Given the description of an element on the screen output the (x, y) to click on. 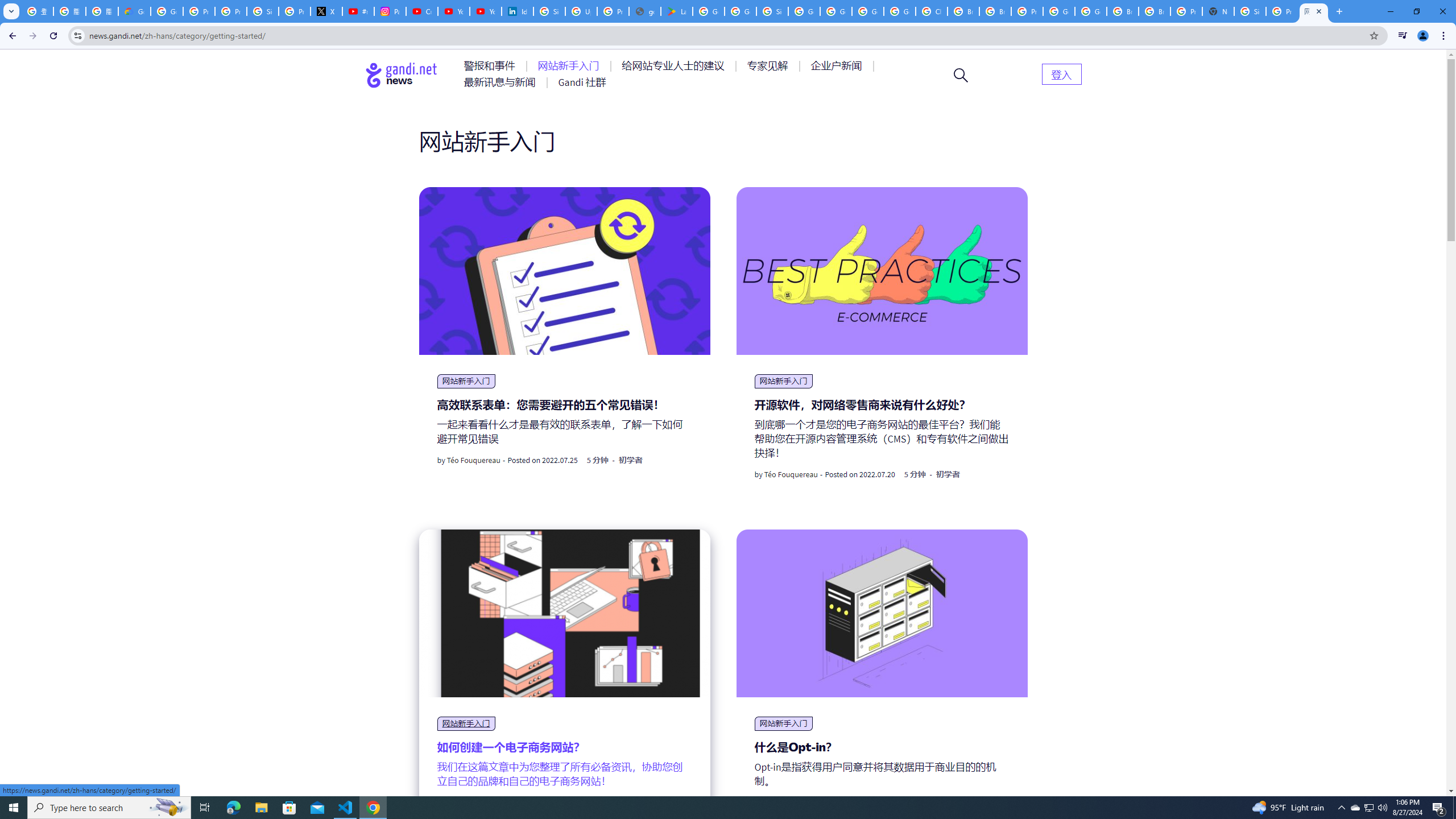
Sign in - Google Accounts (549, 11)
